Given the description of an element on the screen output the (x, y) to click on. 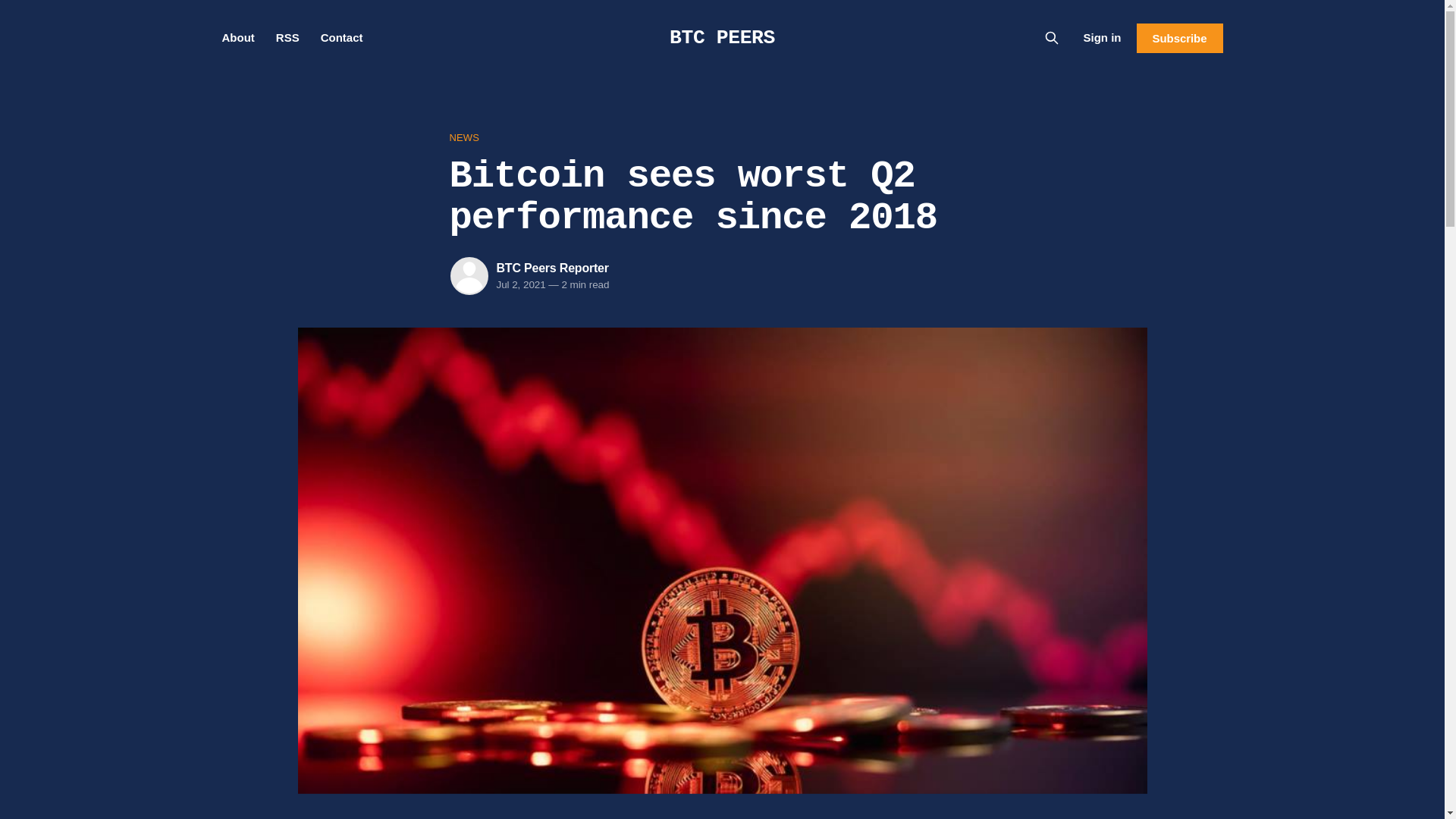
RSS (287, 37)
Subscribe (1179, 37)
BTC Peers Reporter (552, 267)
BTC PEERS (721, 37)
About (237, 37)
Sign in (1102, 37)
NEWS (721, 138)
Contact (341, 37)
